Given the description of an element on the screen output the (x, y) to click on. 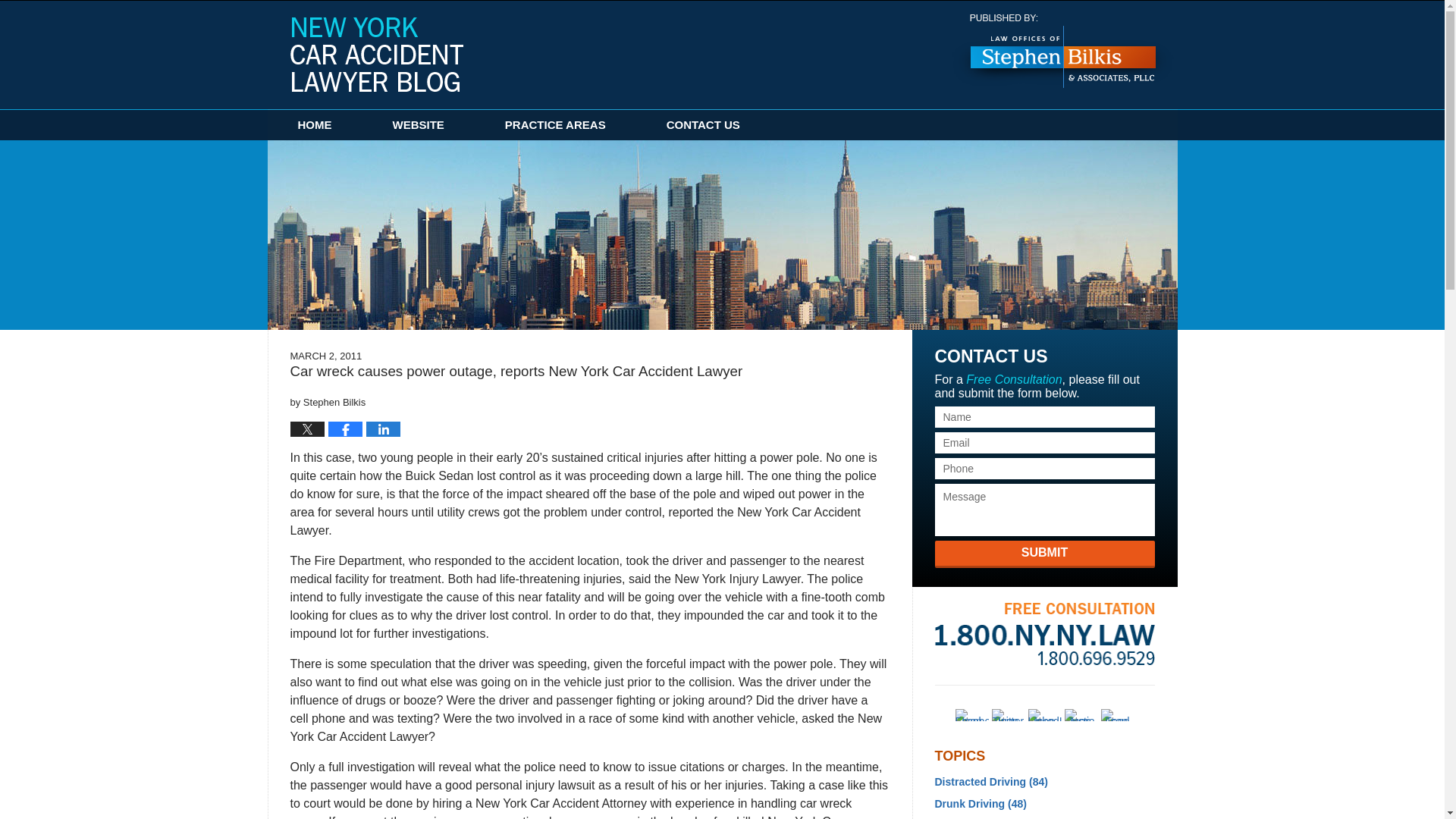
New York Car Accident Lawyer Blog (376, 54)
Please enter a valid phone number. (1044, 468)
Facebook (971, 715)
HOME (313, 124)
LinkedIn (1044, 715)
Justia (1080, 715)
SUBMIT (1044, 554)
CONTACT US (703, 124)
WEBSITE (418, 124)
Twitter (1008, 715)
